Given the description of an element on the screen output the (x, y) to click on. 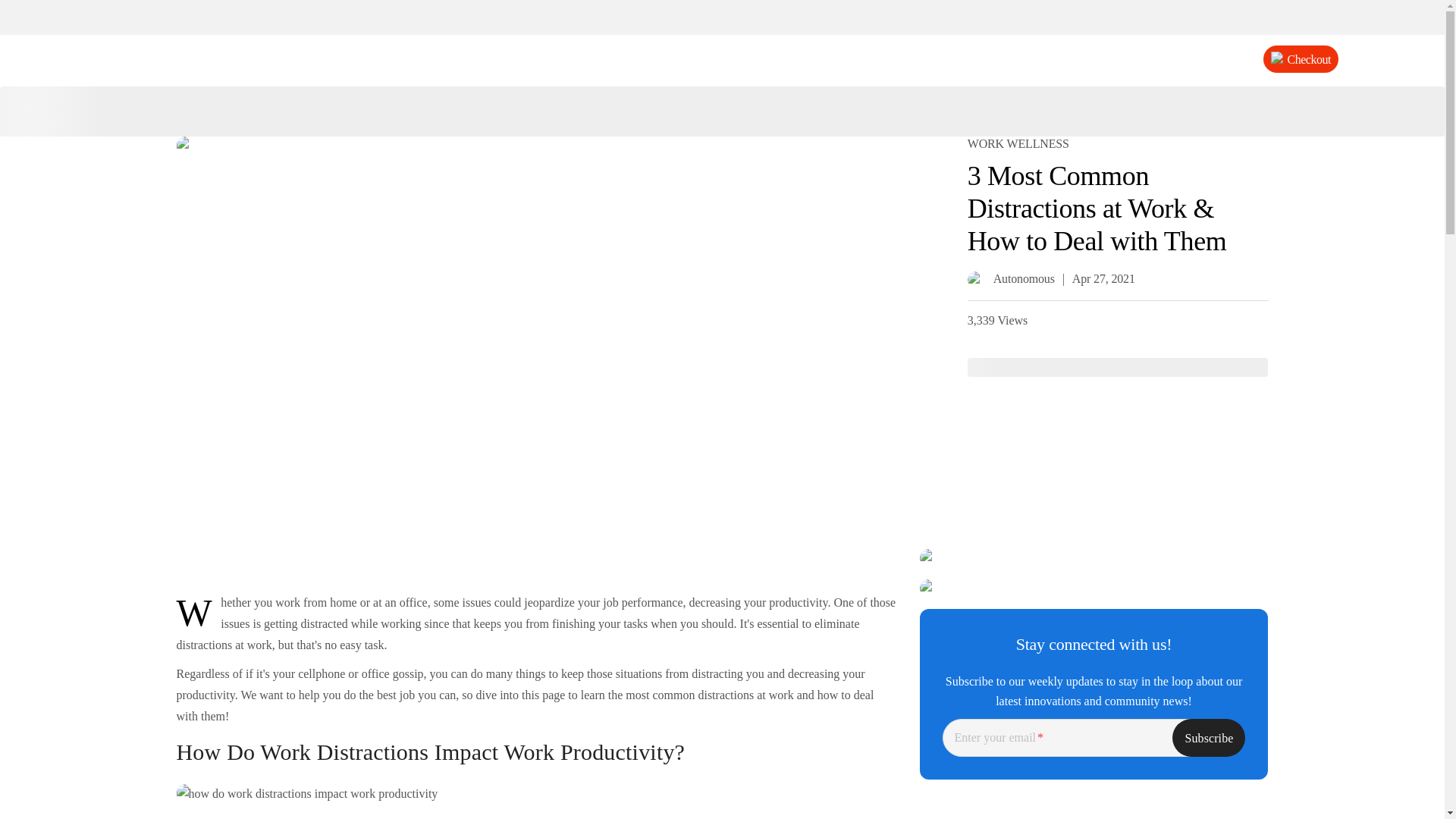
Subscribe (1208, 737)
Autonomous (1011, 279)
Autonomous (721, 58)
Click go to homepage (721, 58)
